Given the description of an element on the screen output the (x, y) to click on. 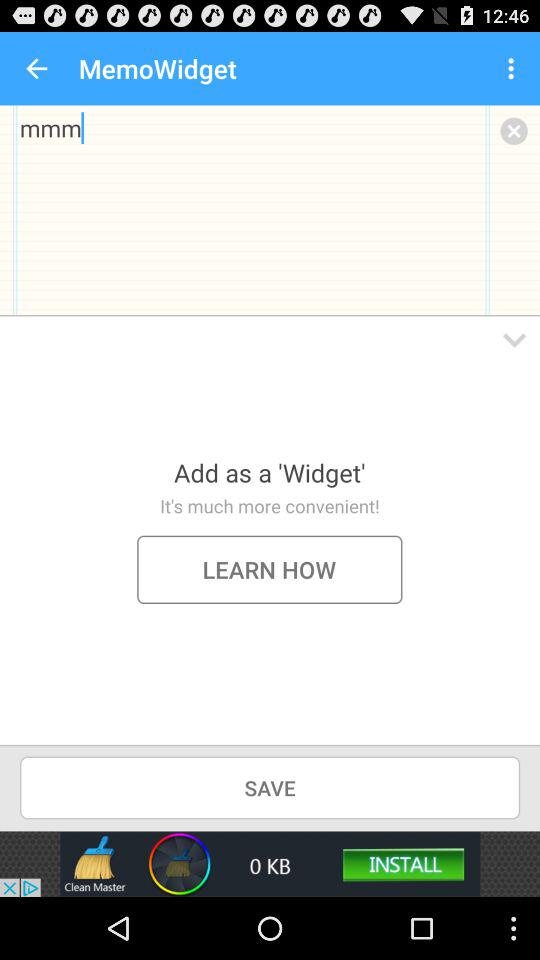
collapse menu (514, 340)
